Given the description of an element on the screen output the (x, y) to click on. 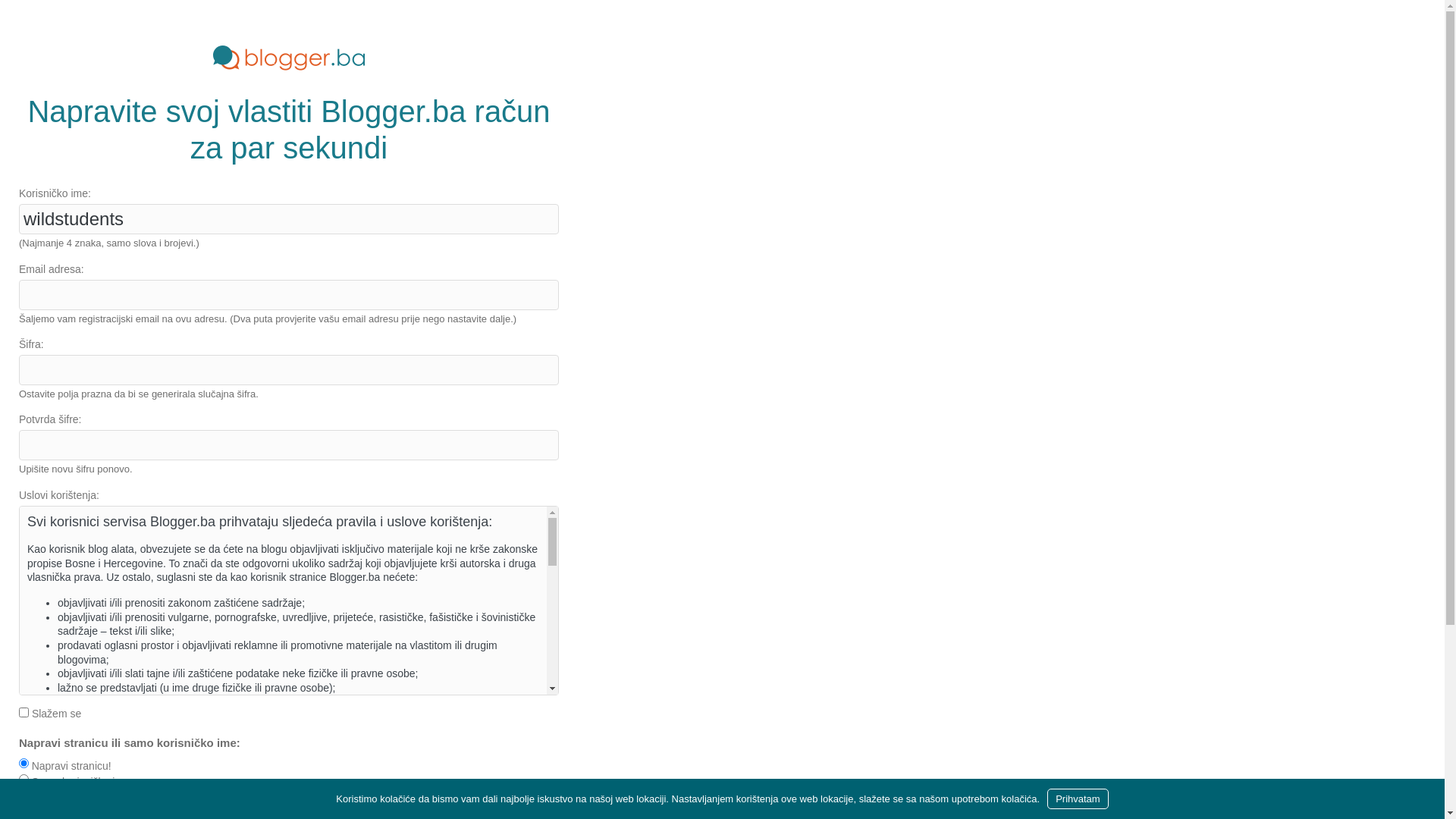
Prihvatam Element type: text (1077, 798)
